Given the description of an element on the screen output the (x, y) to click on. 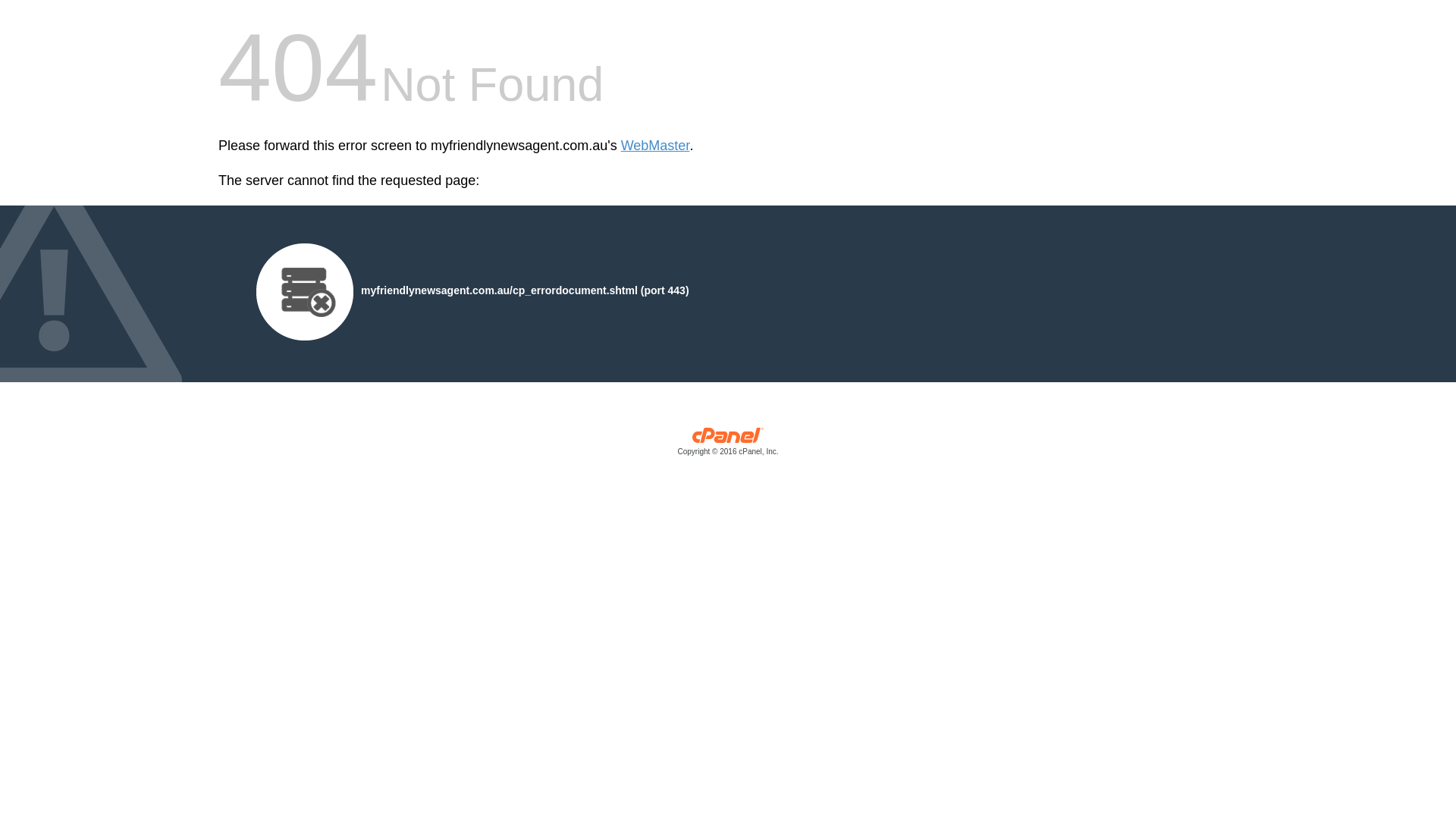
WebMaster Element type: text (655, 145)
